Given the description of an element on the screen output the (x, y) to click on. 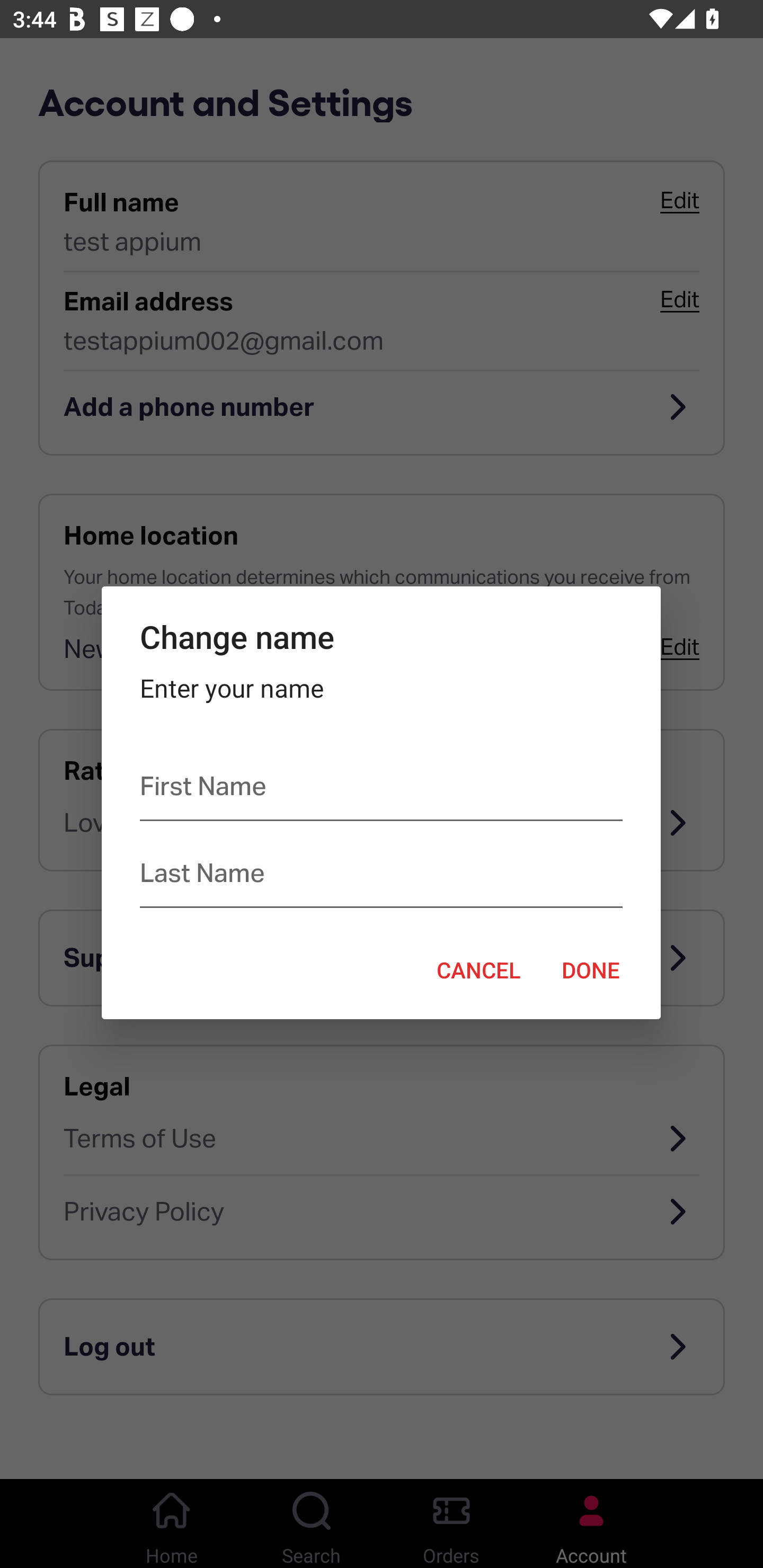
First Name (380, 790)
Last Name (380, 877)
CANCEL (478, 969)
DONE (590, 969)
